Given the description of an element on the screen output the (x, y) to click on. 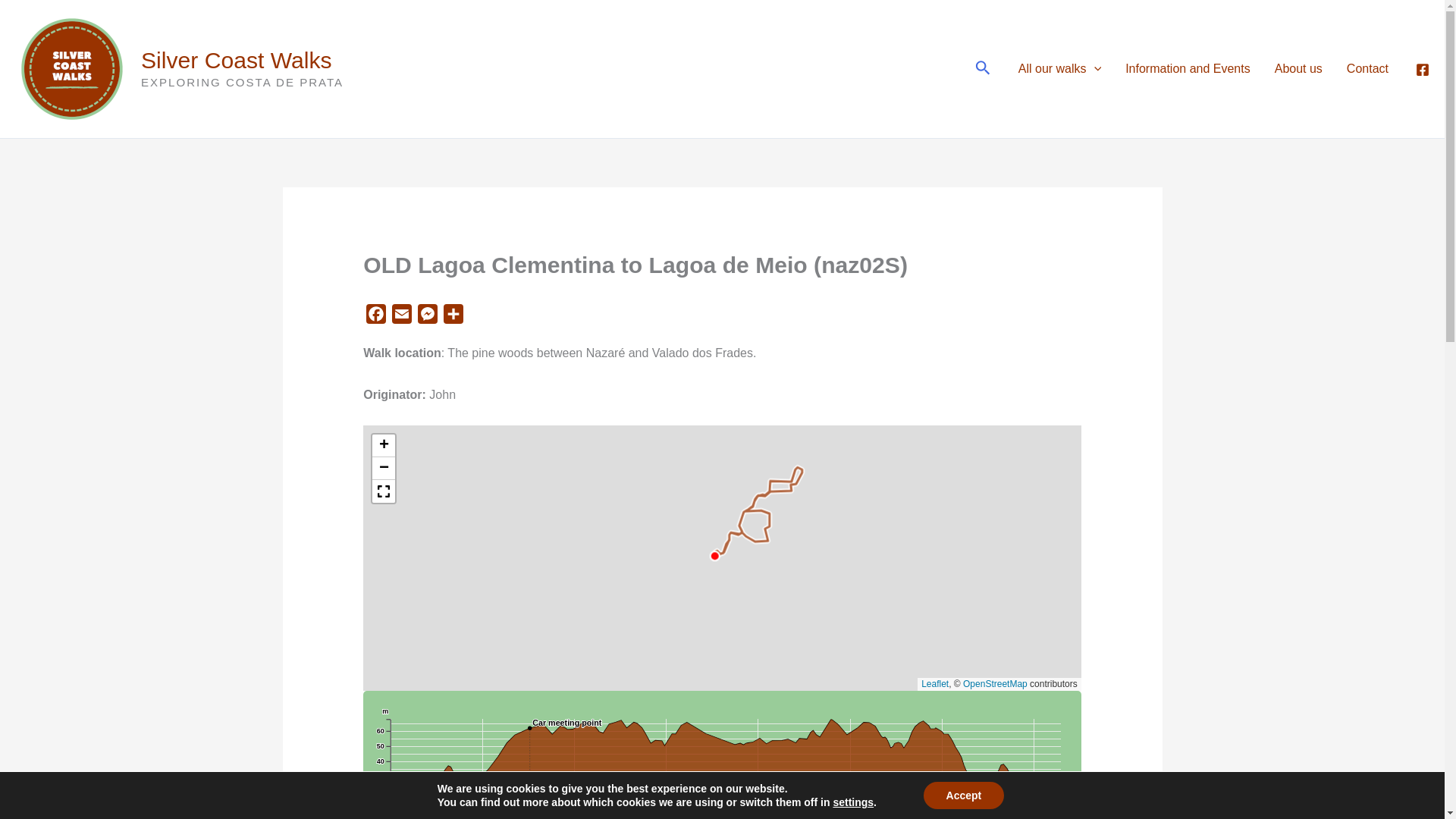
Contact (1367, 68)
Facebook (375, 316)
Information and Events (1187, 68)
All our walks (1059, 68)
A JS library for interactive maps (935, 683)
Silver Coast Walks (236, 59)
Full Screen (383, 490)
About us (1298, 68)
Zoom out (383, 468)
Zoom in (383, 445)
Email (401, 316)
Messenger (427, 316)
